Given the description of an element on the screen output the (x, y) to click on. 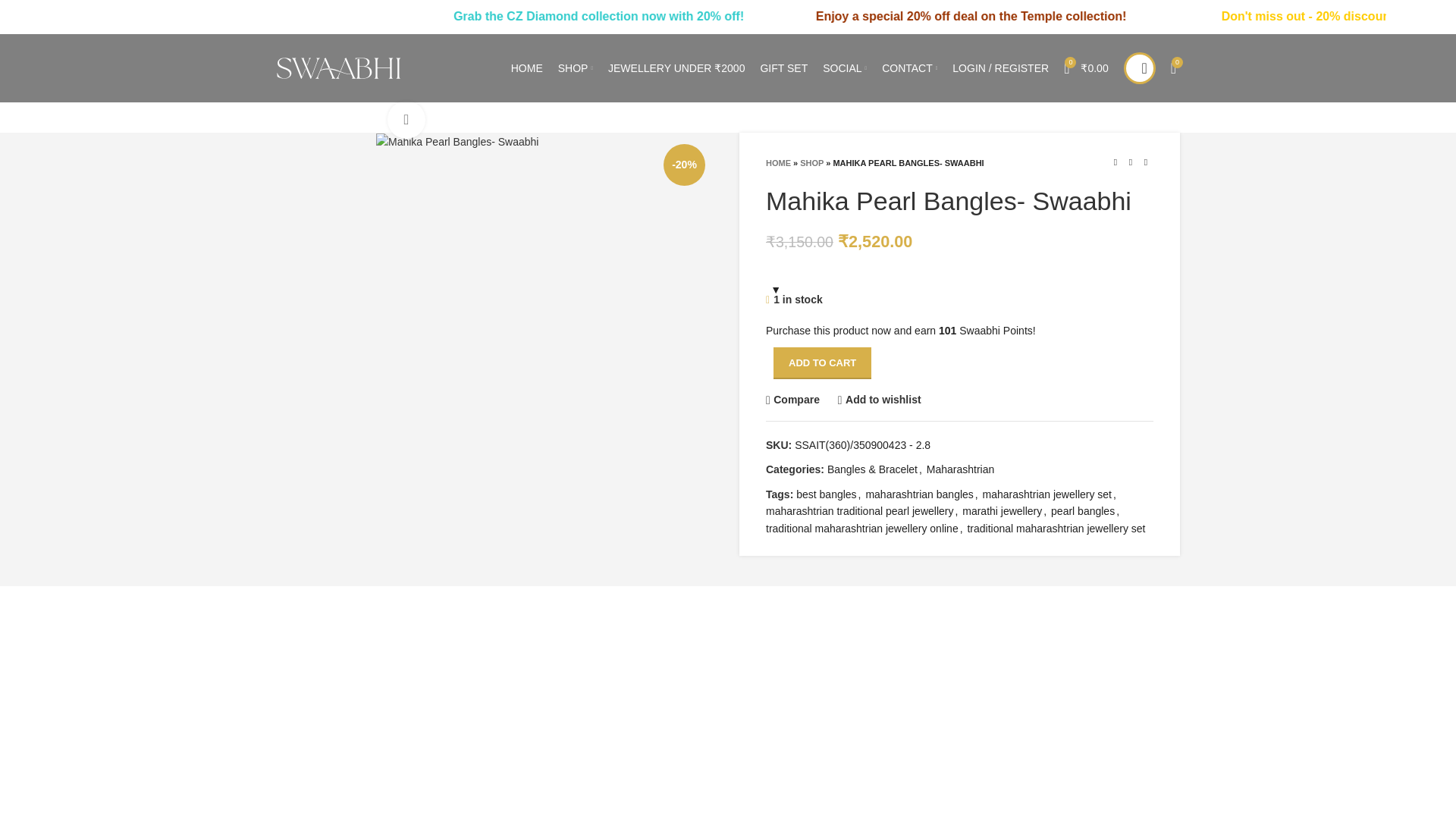
CZ Diamond (675, 15)
Temple collection! (1213, 15)
SHOP (574, 68)
HOME (527, 68)
